Given the description of an element on the screen output the (x, y) to click on. 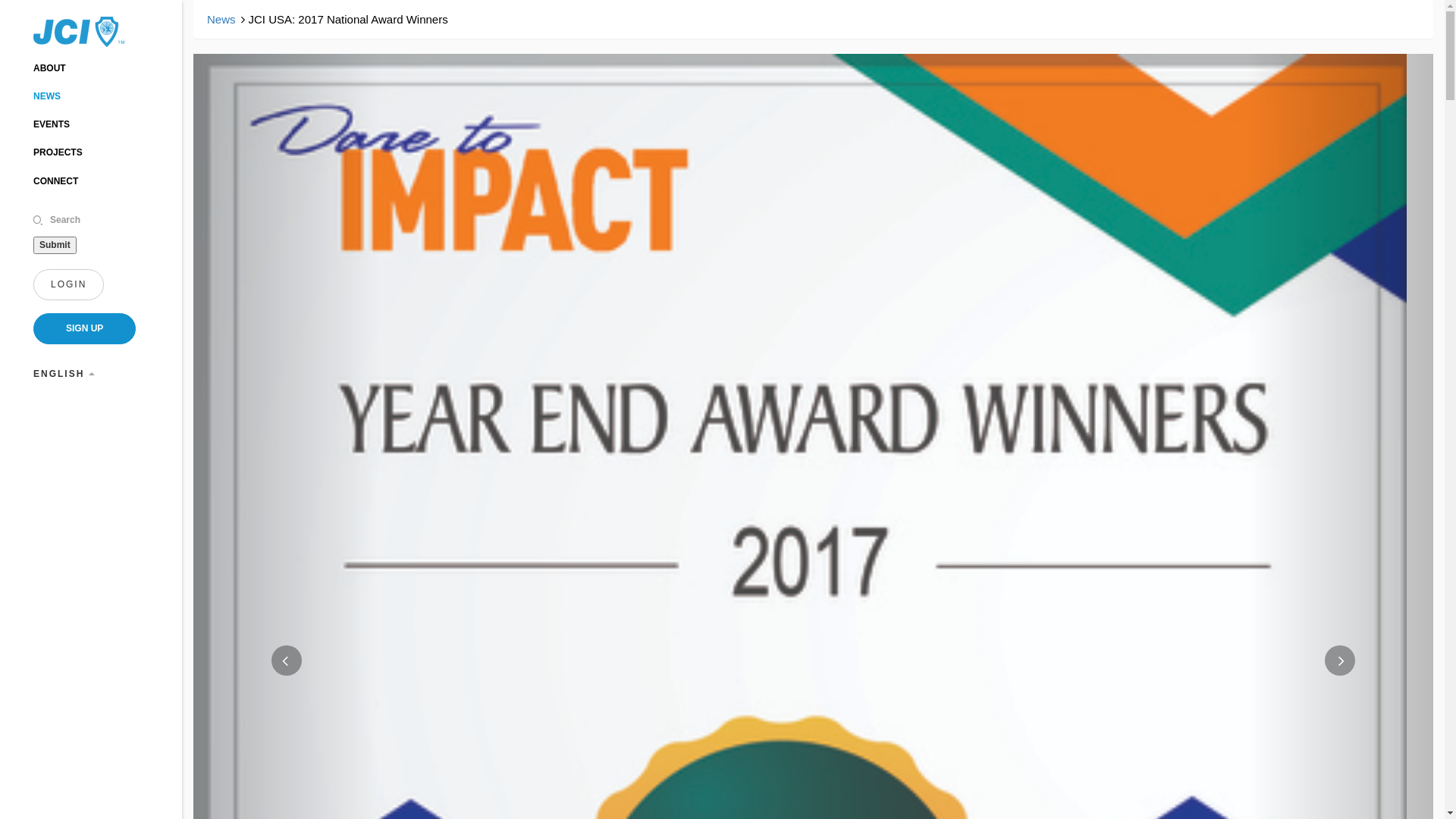
ABOUT Element type: text (49, 67)
News Element type: text (221, 18)
SIGN UP Element type: text (84, 328)
NEWS Element type: text (46, 96)
EVENTS Element type: text (51, 124)
Submit Element type: text (54, 245)
LOGIN Element type: text (68, 284)
CONNECT Element type: text (55, 180)
ENGLISH Element type: text (63, 373)
PROJECTS Element type: text (57, 152)
